Given the description of an element on the screen output the (x, y) to click on. 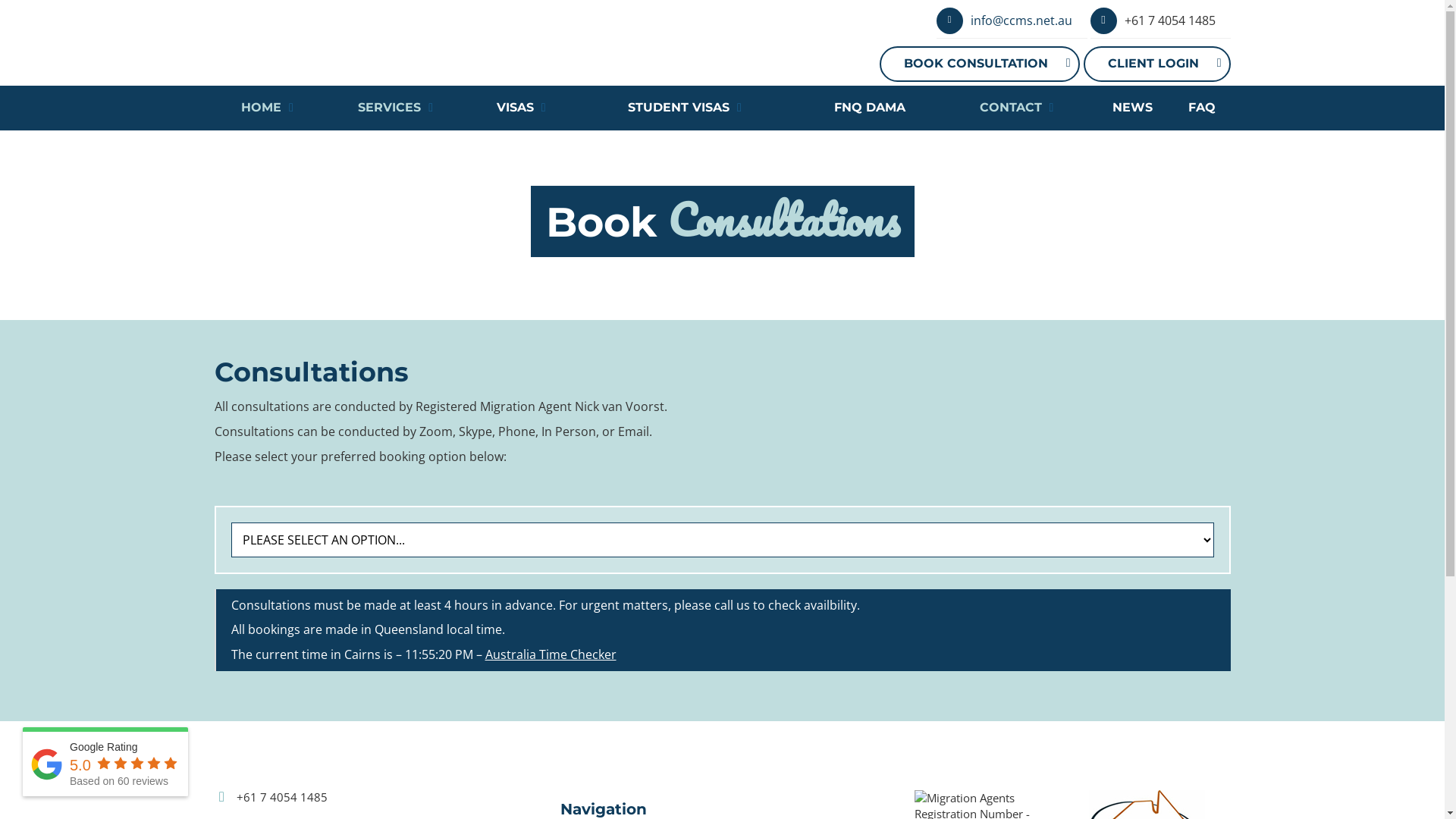
NEWS Element type: text (1132, 107)
STUDENT VISAS Element type: text (684, 107)
BOOK CONSULTATION Element type: text (979, 63)
CONTACT Element type: text (1016, 107)
FAQ Element type: text (1201, 107)
FNQ DAMA Element type: text (870, 107)
CLIENT LOGIN Element type: text (1156, 63)
SERVICES Element type: text (395, 107)
HOME Element type: text (267, 107)
info@ccms.net.au Element type: text (1021, 20)
Australia Time Checker Element type: text (550, 654)
VISAS Element type: text (520, 107)
